Given the description of an element on the screen output the (x, y) to click on. 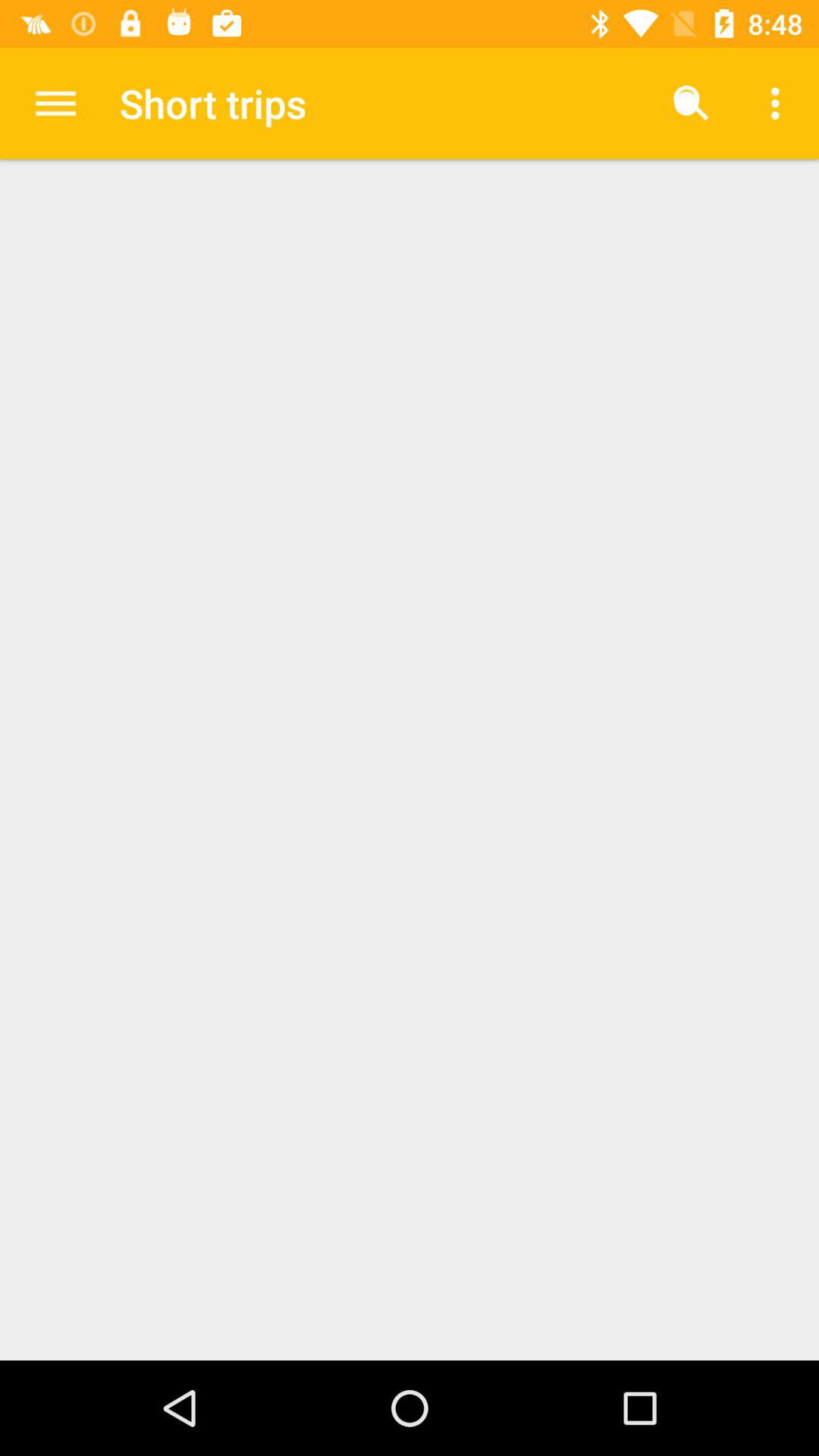
open item to the left of the short trips icon (55, 103)
